Given the description of an element on the screen output the (x, y) to click on. 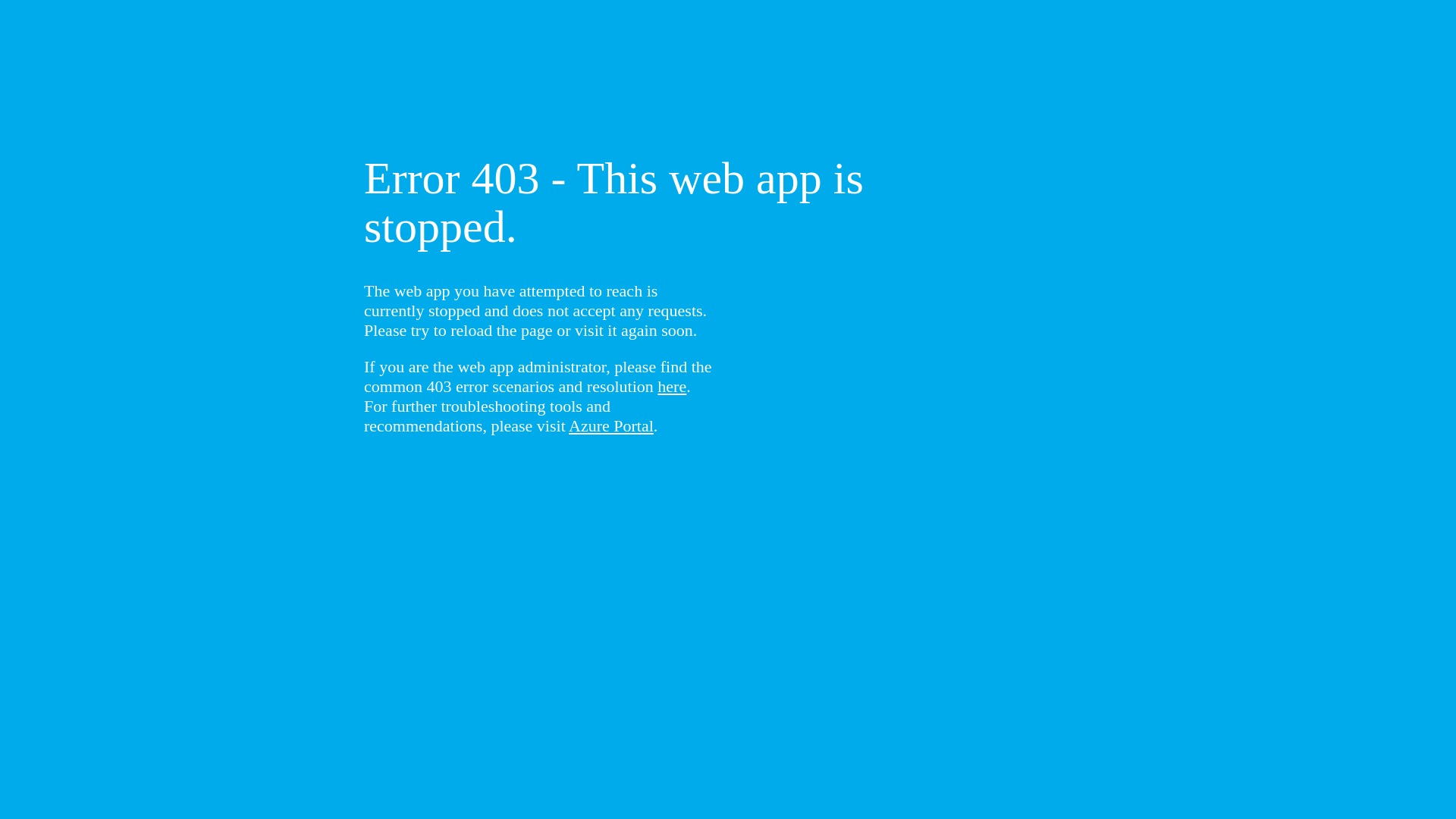
here Element type: text (671, 385)
Azure Portal Element type: text (610, 425)
